Given the description of an element on the screen output the (x, y) to click on. 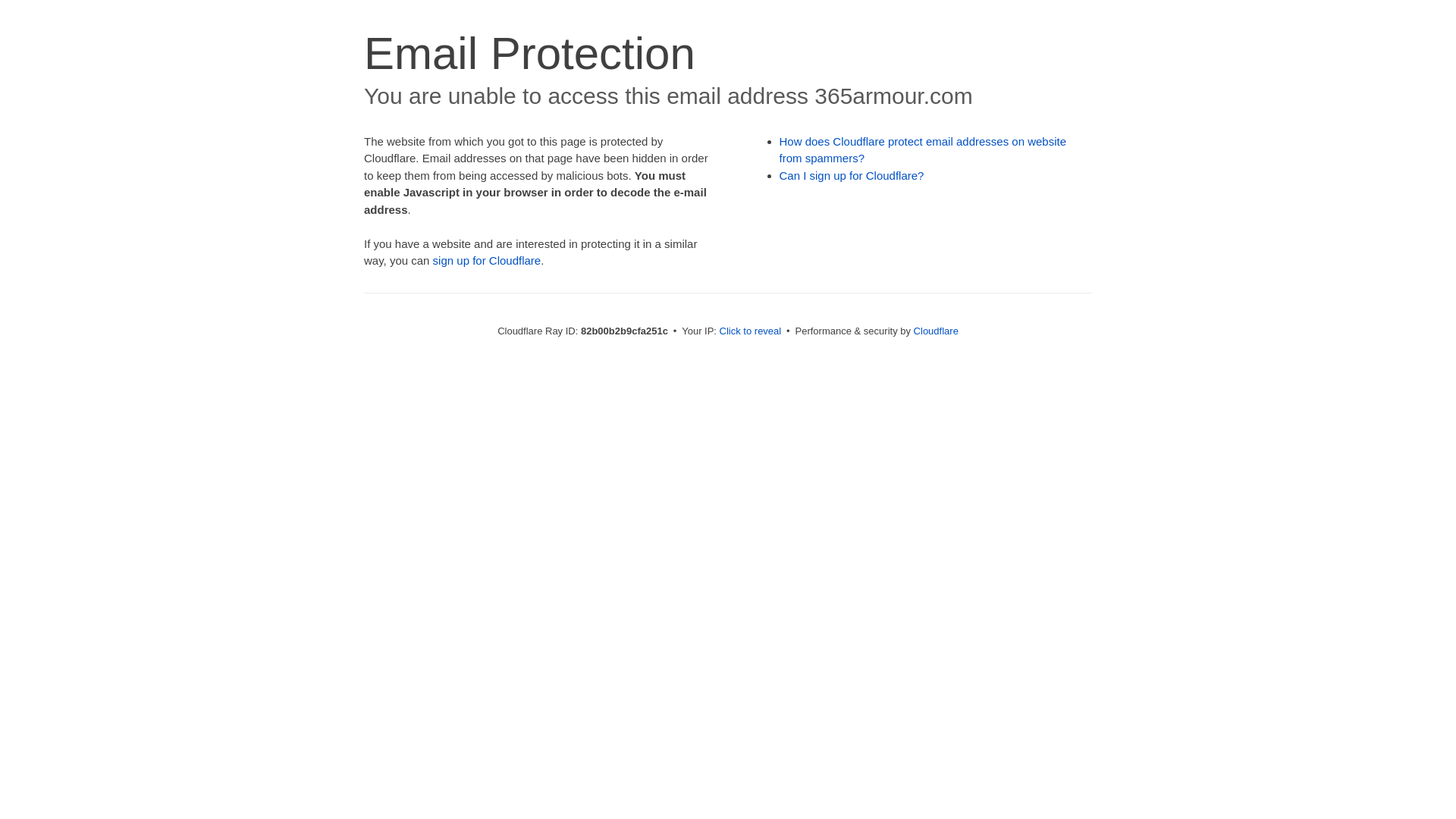
Can I sign up for Cloudflare? Element type: text (851, 175)
Cloudflare Element type: text (935, 330)
Click to reveal Element type: text (750, 330)
sign up for Cloudflare Element type: text (487, 260)
